Given the description of an element on the screen output the (x, y) to click on. 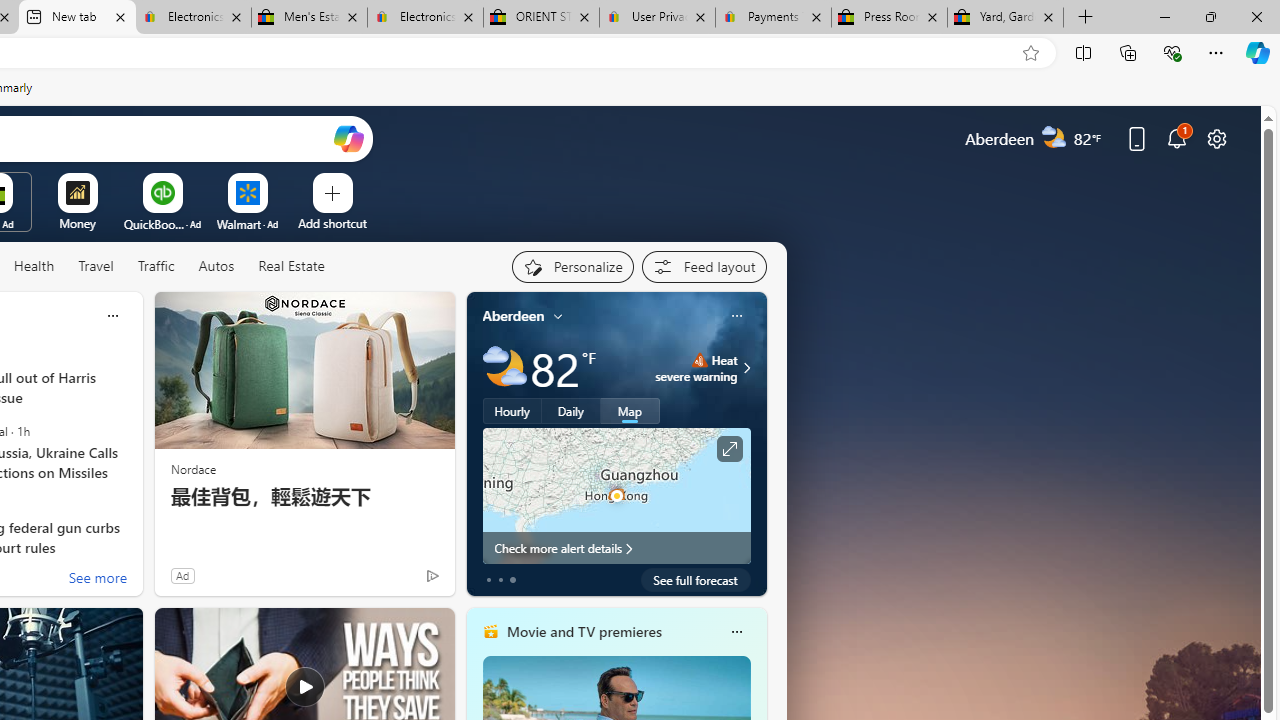
Class: weather-arrow-glyph (746, 367)
tab-2 (511, 579)
Check more alert details (616, 547)
